Given the description of an element on the screen output the (x, y) to click on. 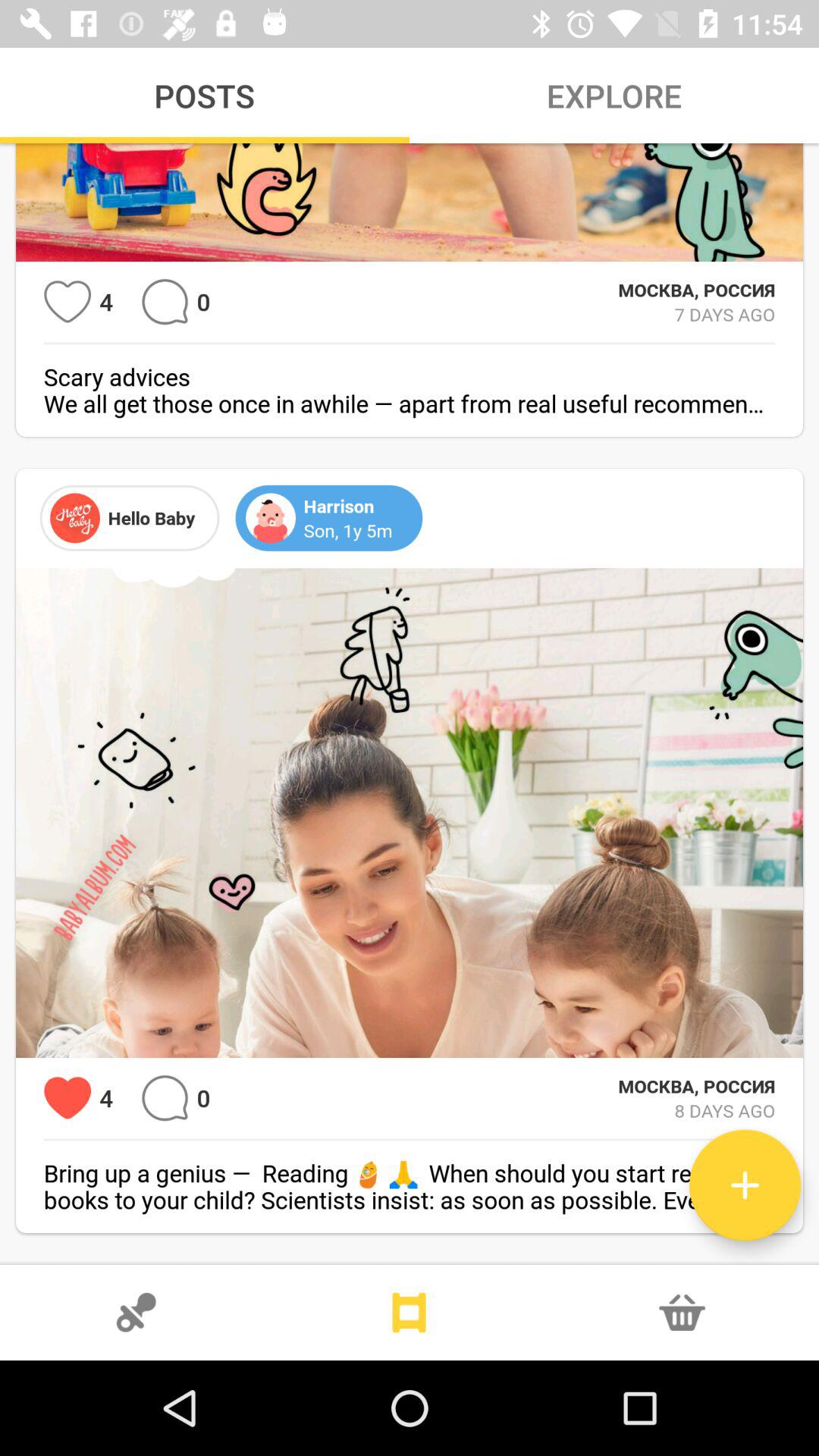
turn off the icon next to the 4 (67, 1098)
